Given the description of an element on the screen output the (x, y) to click on. 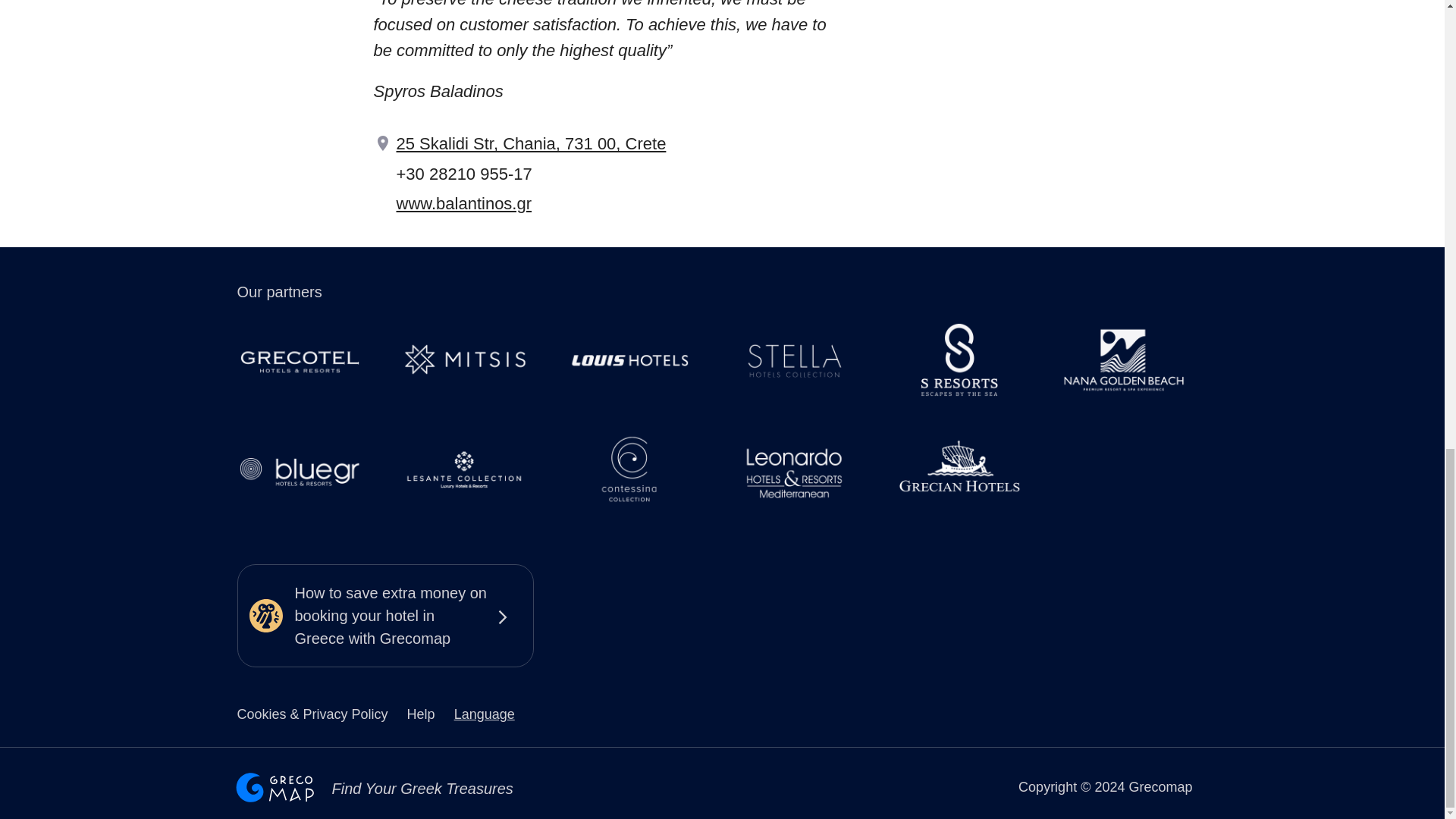
www.balantinos.gr (463, 203)
Help (420, 714)
